Given the description of an element on the screen output the (x, y) to click on. 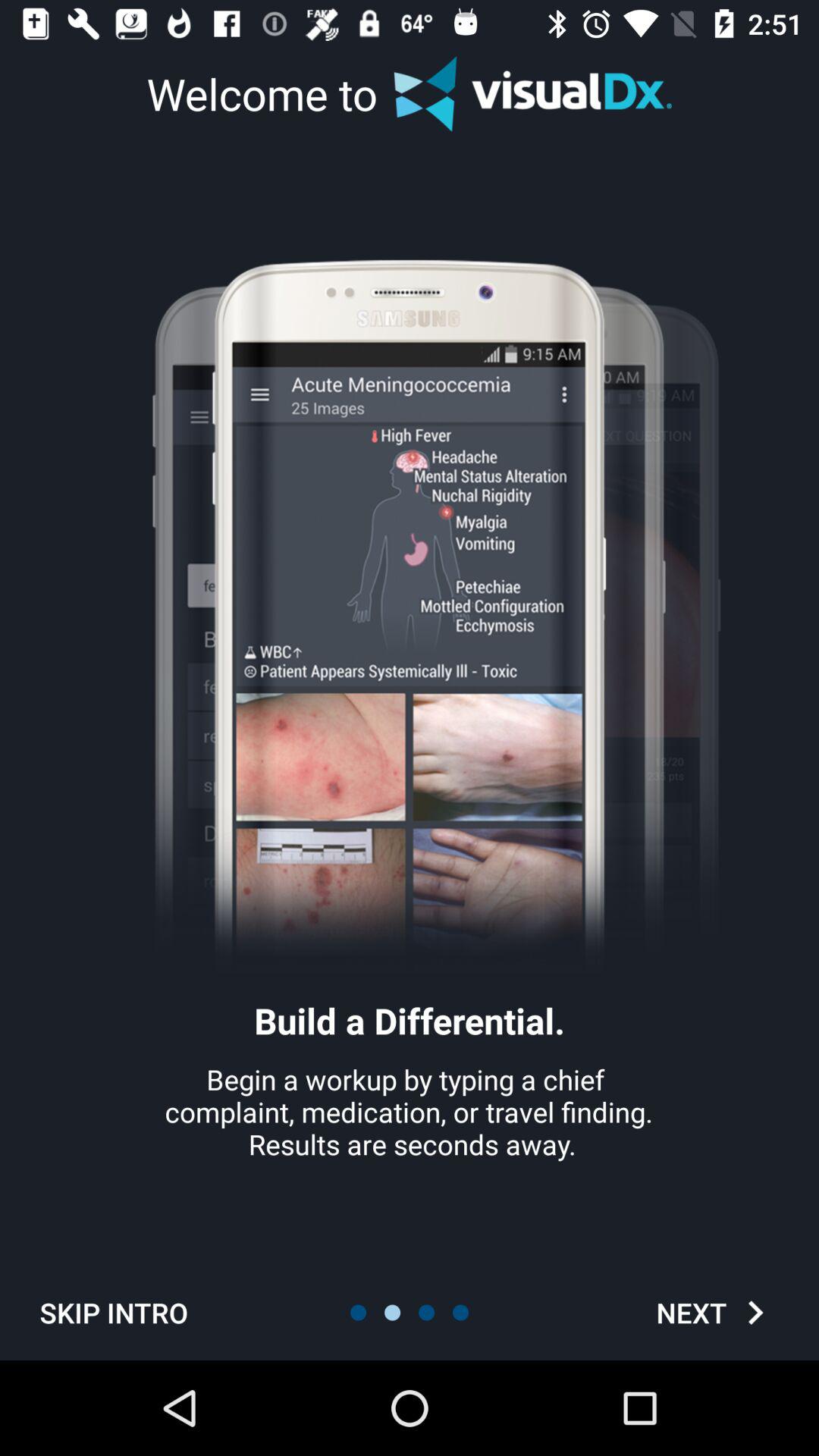
scroll to the next icon (715, 1312)
